Given the description of an element on the screen output the (x, y) to click on. 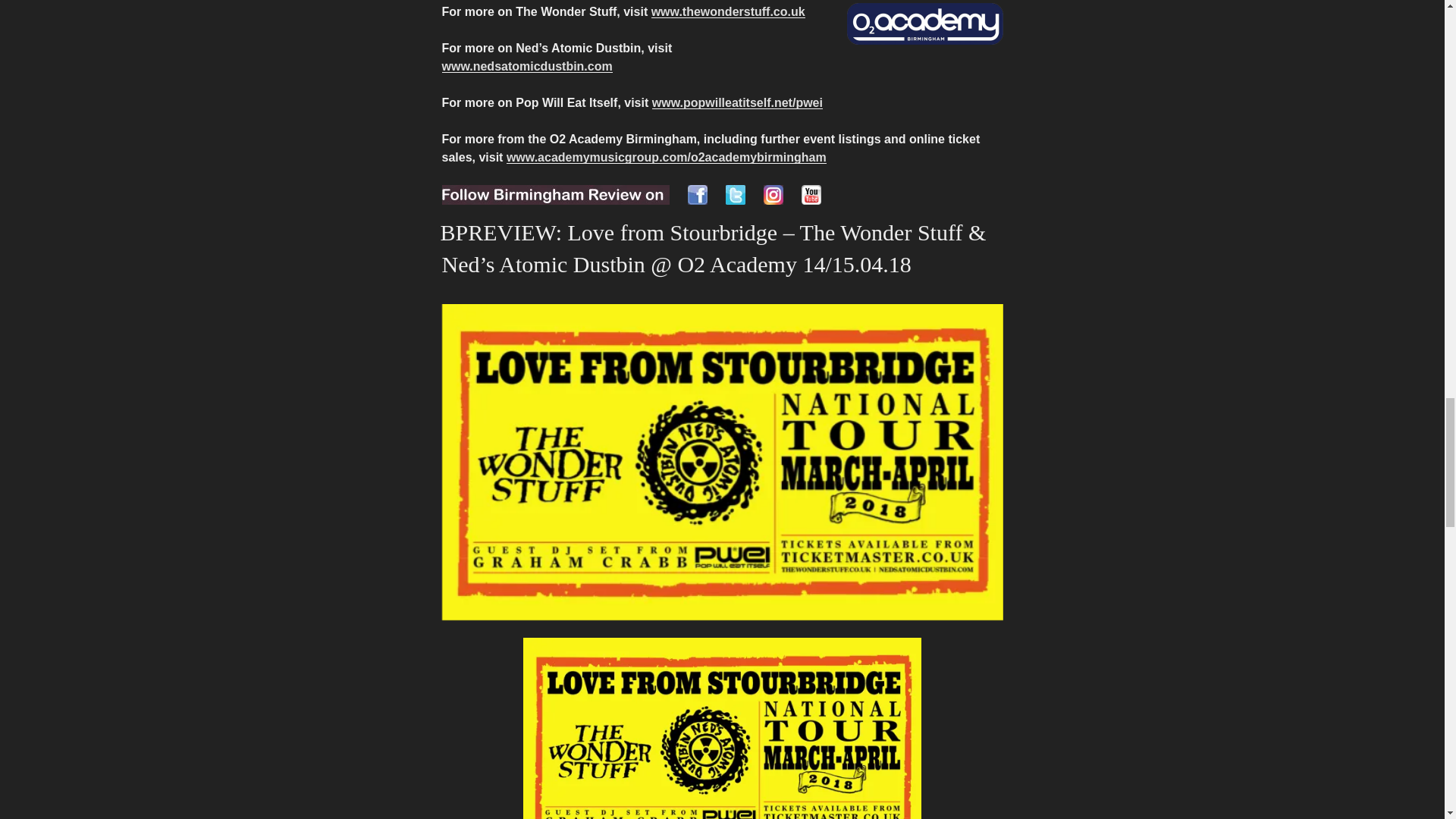
www.nedsatomicdustbin.com (526, 65)
www.thewonderstuff.co.uk (727, 11)
